Given the description of an element on the screen output the (x, y) to click on. 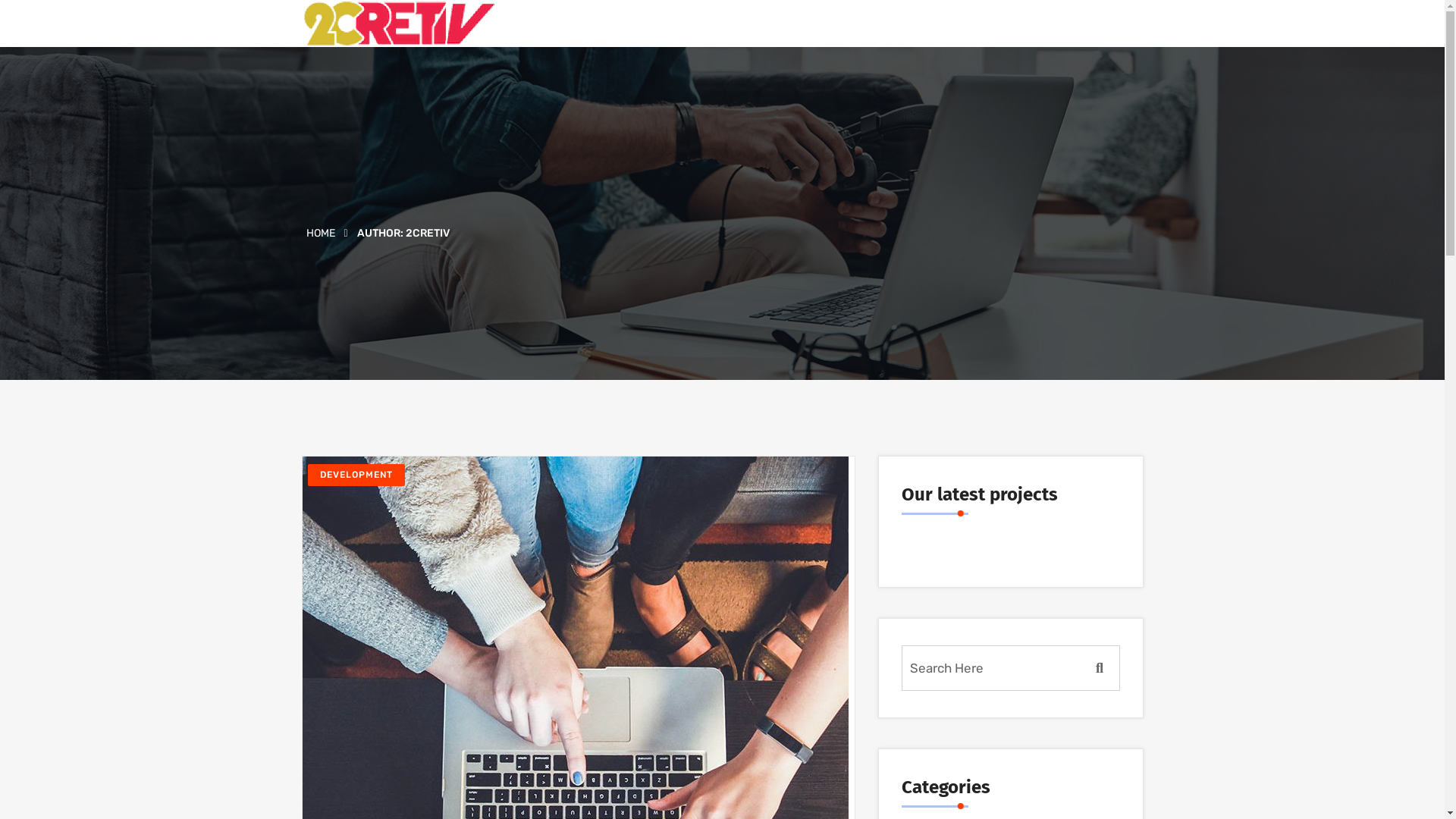
HOME Element type: text (320, 232)
Search for: Element type: hover (1009, 667)
DEVELOPMENT Element type: text (355, 475)
2Cretiv Element type: hover (398, 23)
